Given the description of an element on the screen output the (x, y) to click on. 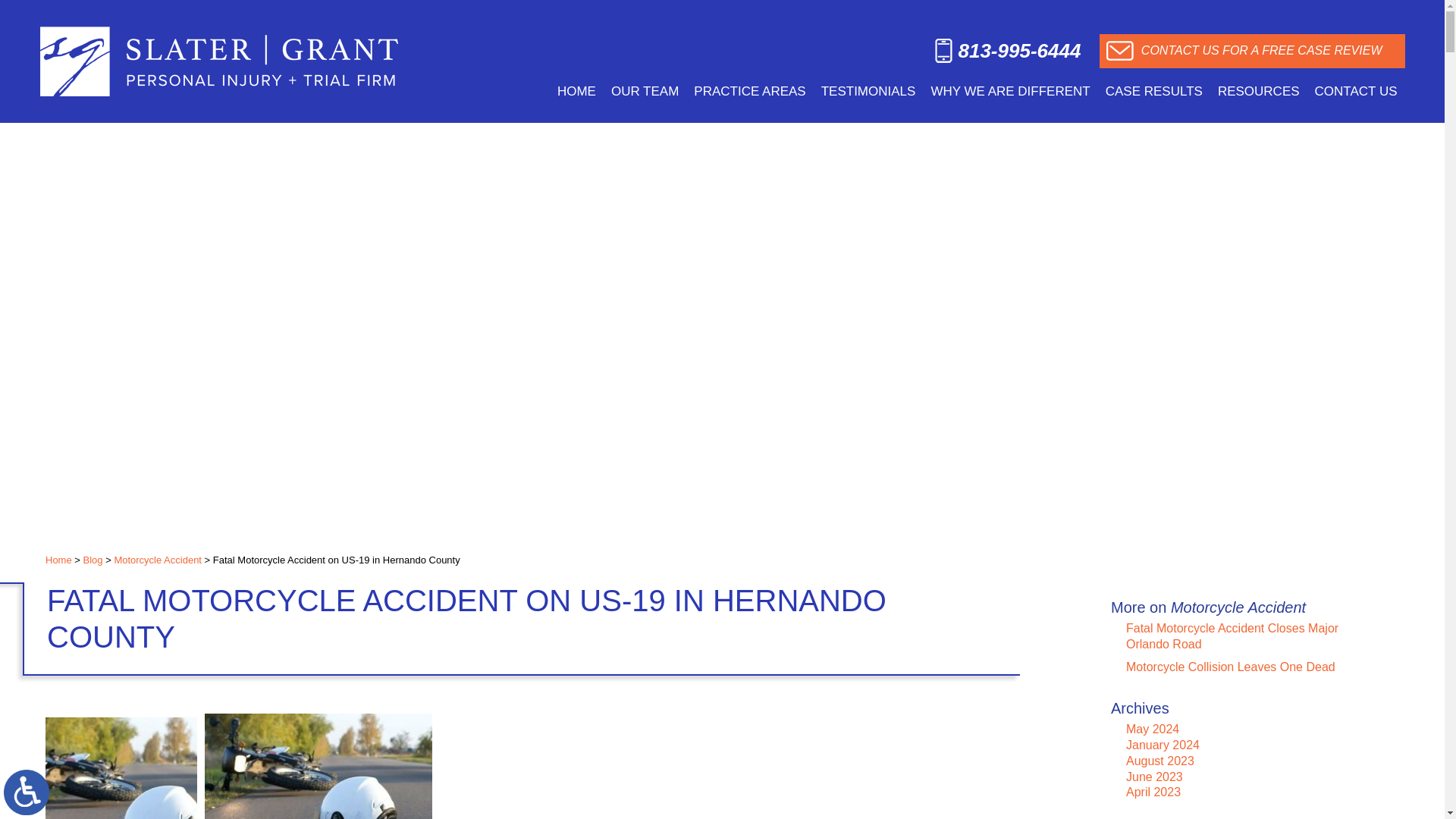
PRACTICE AREAS (748, 91)
OUR TEAM (644, 91)
HOME (577, 91)
RESOURCES (1258, 91)
CASE RESULTS (1153, 91)
TESTIMONIALS (868, 91)
813-995-6444 (1007, 51)
Switch to ADA Accessible Theme (26, 791)
WHY WE ARE DIFFERENT (1010, 91)
5-15-20 (120, 768)
